Given the description of an element on the screen output the (x, y) to click on. 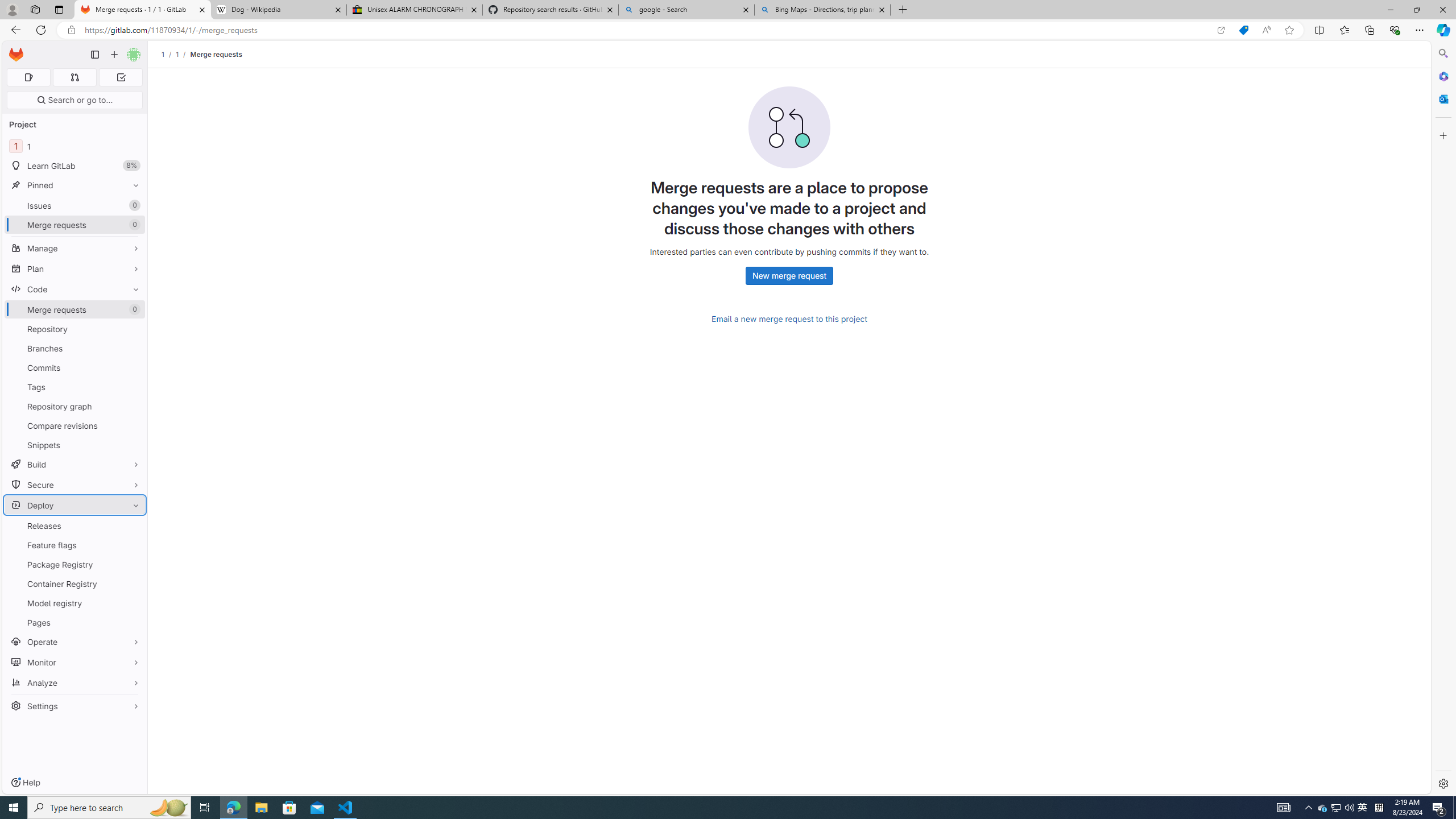
To-Do list 0 (120, 76)
Analyze (74, 682)
Container Registry (74, 583)
Customize (1442, 135)
Commits (74, 367)
Repository (74, 328)
Pinned (74, 185)
Pin Container Registry (132, 583)
